Given the description of an element on the screen output the (x, y) to click on. 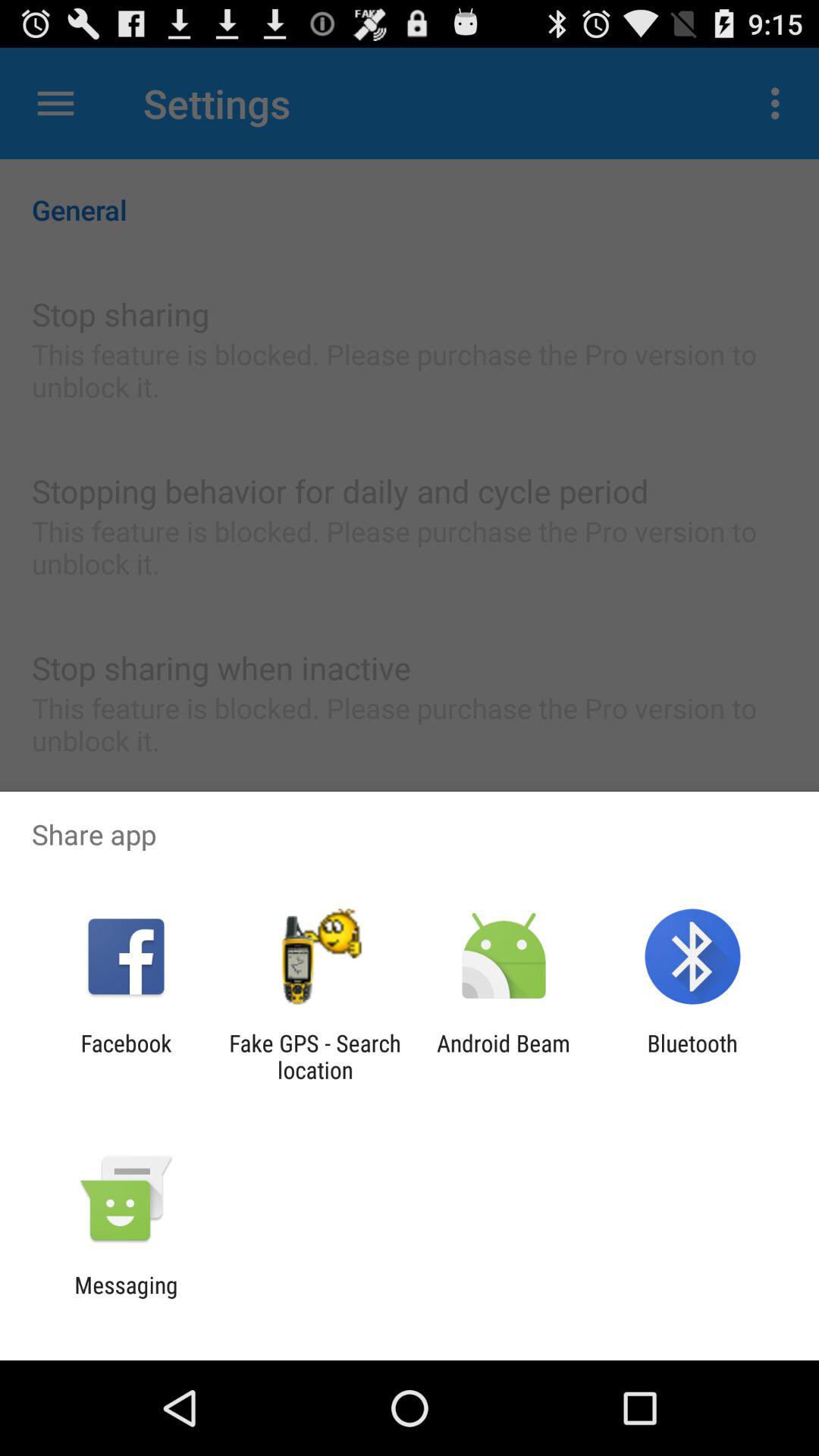
scroll to the messaging app (126, 1298)
